Given the description of an element on the screen output the (x, y) to click on. 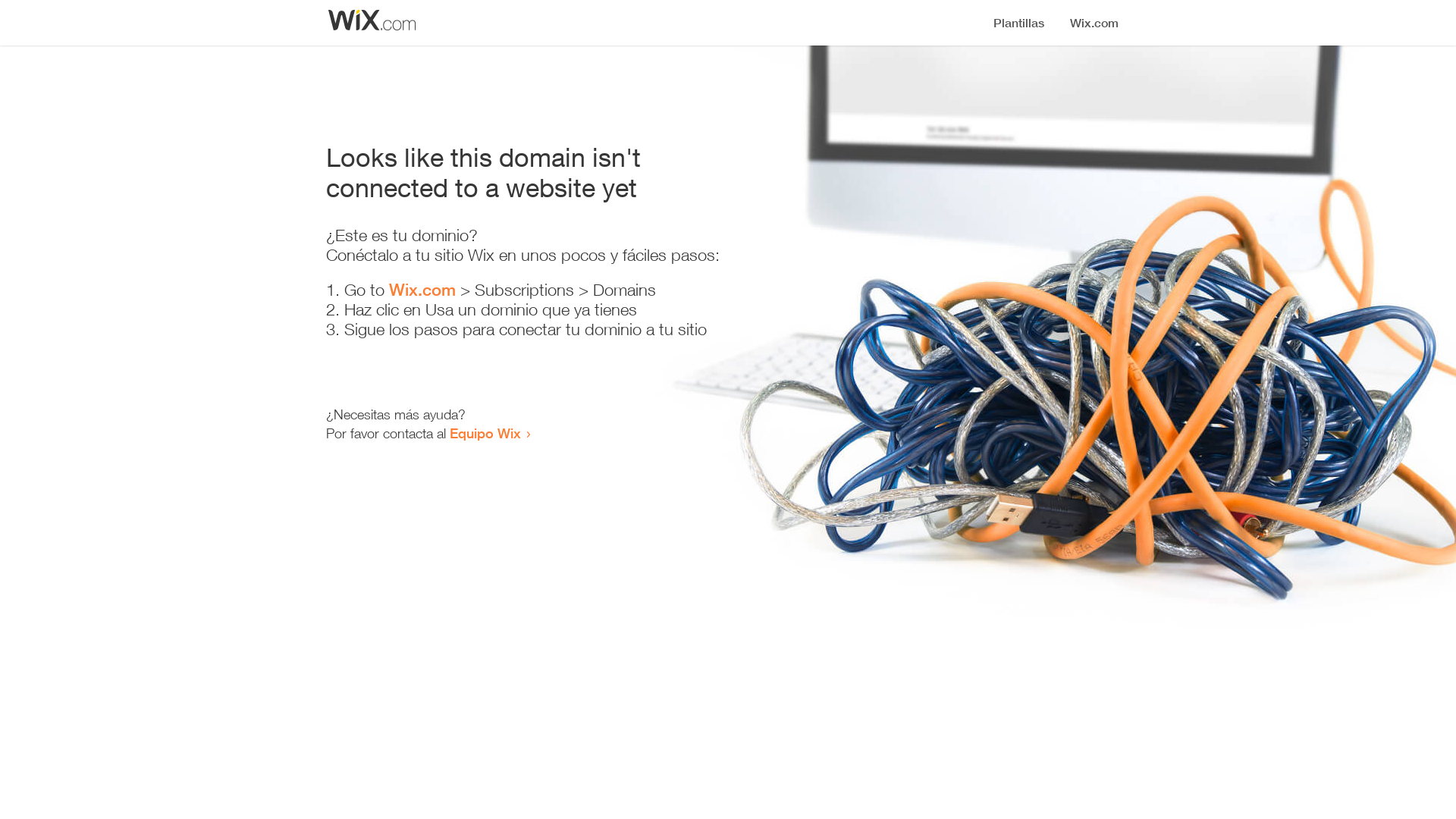
Wix.com Element type: text (422, 289)
Equipo Wix Element type: text (484, 432)
